Given the description of an element on the screen output the (x, y) to click on. 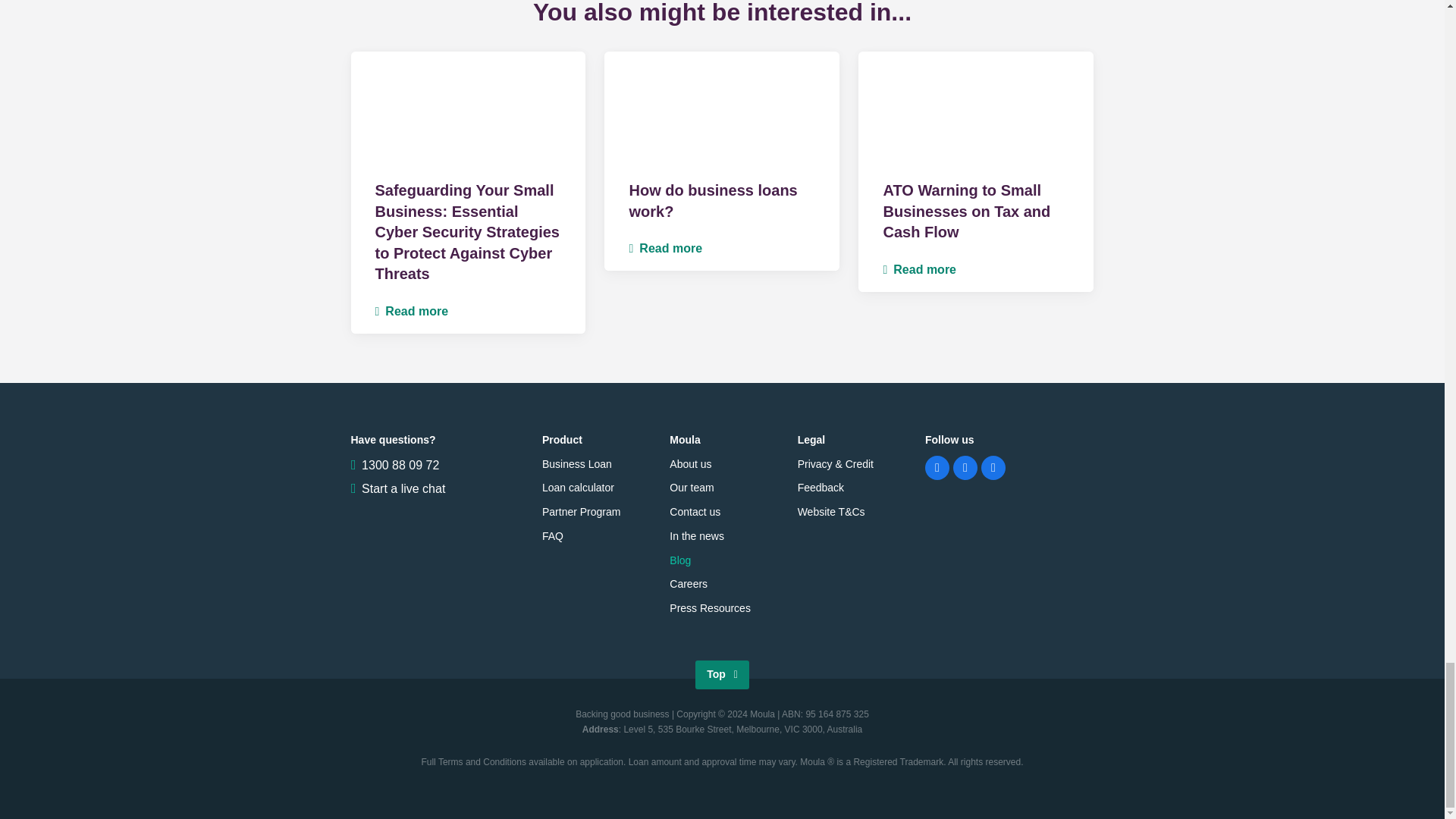
ATO Warning to Small Businesses on Tax and Cash Flow (965, 210)
How do business loans work? (712, 200)
LinkedIn (964, 467)
Instagram (993, 467)
Facebook (936, 467)
Read more (919, 269)
Read more (664, 247)
Top (722, 674)
Read more (411, 310)
